Given the description of an element on the screen output the (x, y) to click on. 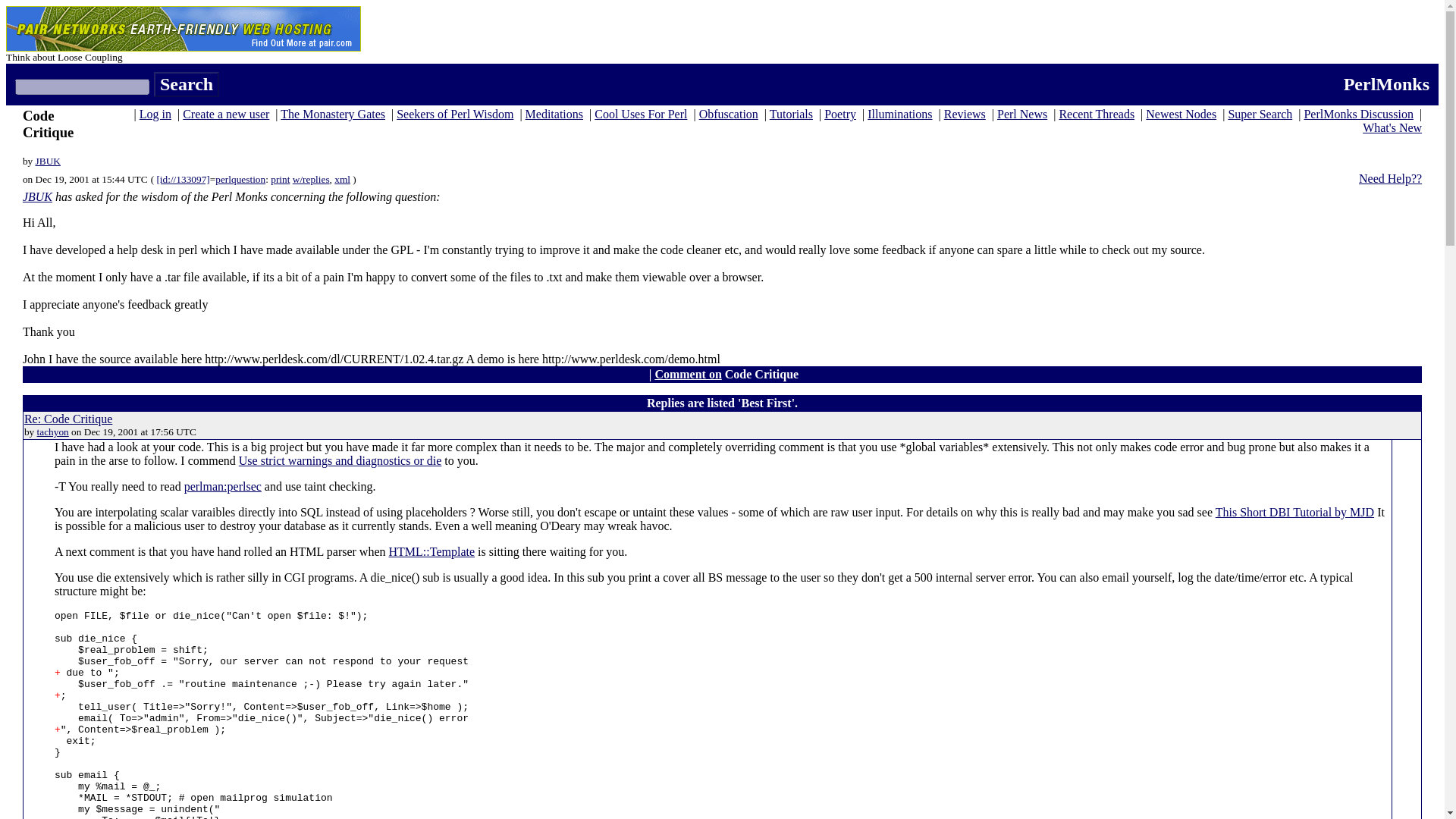
Search (186, 84)
This Short DBI Tutorial by MJD (1294, 512)
Search (186, 84)
Comment on (686, 373)
Newest Nodes (1180, 113)
Super Search (1259, 113)
Re: Code Critique (68, 418)
Cool Uses For Perl (640, 113)
Use strict warnings and diagnostics or die (340, 460)
Reviews (964, 113)
Log in (155, 113)
JBUK (47, 161)
tachyon (52, 431)
Tutorials (791, 113)
Meditations (554, 113)
